Given the description of an element on the screen output the (x, y) to click on. 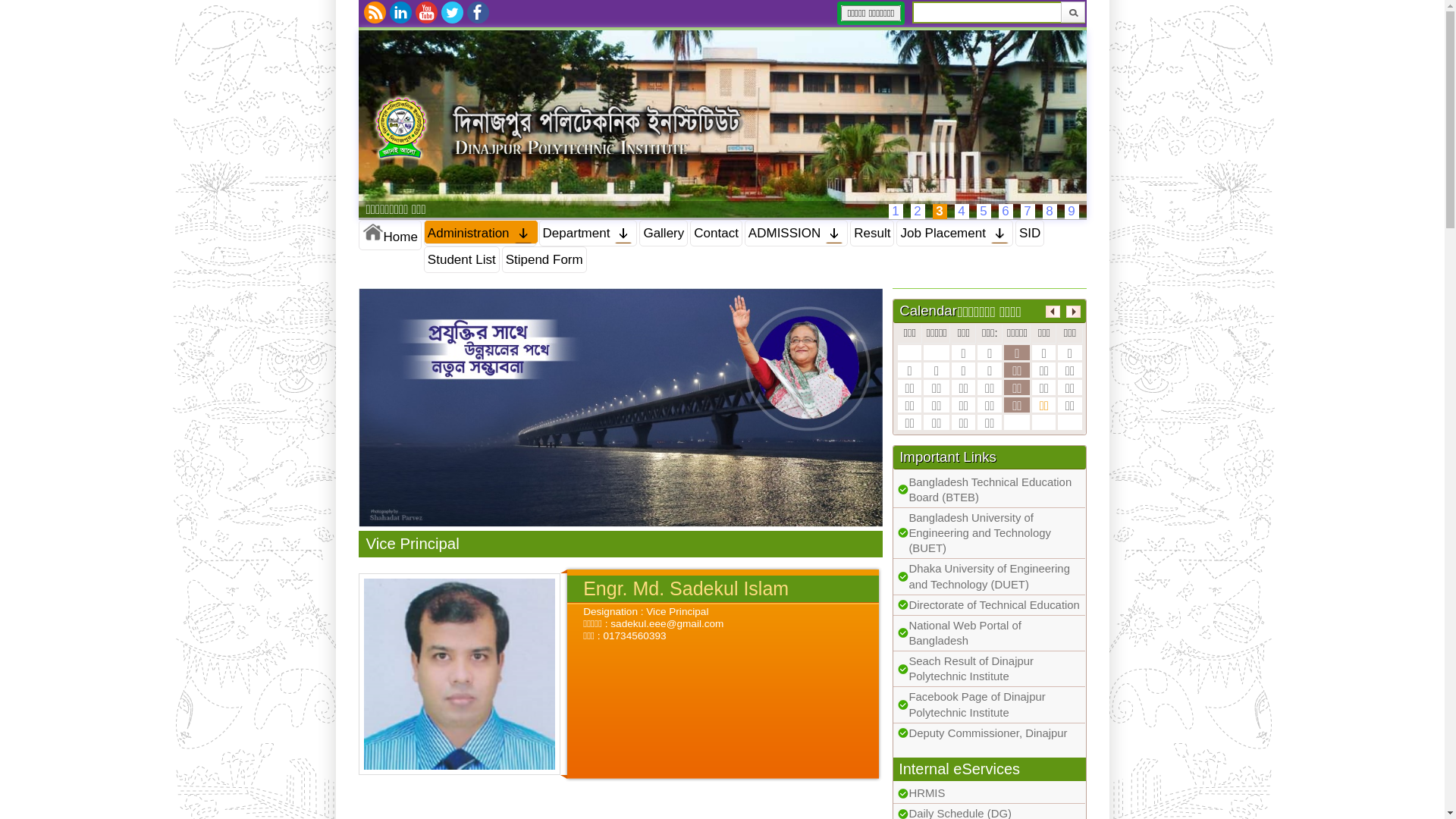
Bangladesh University of Engineering and Technology (BUET) Element type: text (979, 532)
5 Element type: text (983, 211)
Stipend Form Element type: text (544, 259)
Result Element type: text (871, 232)
Engr. Md. Sadekul Islam Element type: hover (459, 673)
Home Element type: text (389, 234)
Directorate of Technical Education Element type: text (993, 605)
SID Element type: text (1029, 232)
Student List Element type: text (461, 259)
Bangladesh Technical Education Board (BTEB) Element type: text (989, 489)
9 Element type: text (1071, 211)
ADMISSION Element type: text (796, 232)
Deputy Commissioner, Dinajpur Element type: text (987, 733)
Dhaka University of Engineering and Technology (DUET) Element type: text (989, 575)
6 Element type: text (1004, 211)
3 Element type: text (939, 211)
Facebook Page of Dinajpur Polytechnic Institute Element type: text (976, 704)
Submit Element type: text (1072, 11)
4 Element type: text (960, 211)
HRMIS Element type: text (926, 793)
2 Element type: text (917, 211)
National Web Portal of Bangladesh Element type: text (964, 632)
Gallery Element type: text (663, 232)
Job Placement Element type: text (954, 232)
Contact Element type: text (715, 232)
1 Element type: text (895, 211)
Department Element type: text (588, 232)
Seach Result of Dinajpur Polytechnic Institute Element type: text (970, 668)
7 Element type: text (1027, 211)
Administration Element type: text (480, 232)
8 Element type: text (1048, 211)
